Given the description of an element on the screen output the (x, y) to click on. 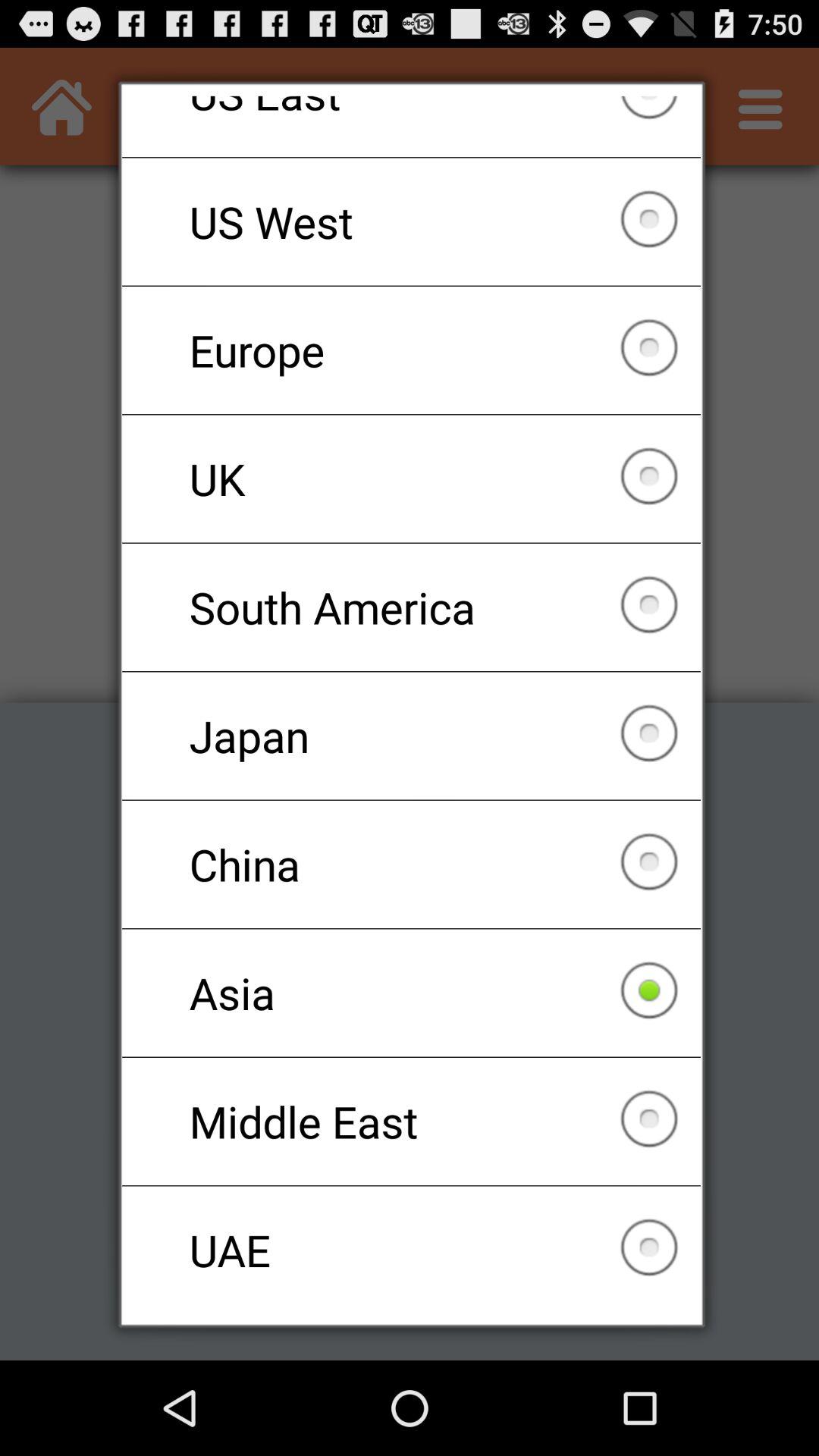
tap checkbox above the     europe icon (411, 221)
